Given the description of an element on the screen output the (x, y) to click on. 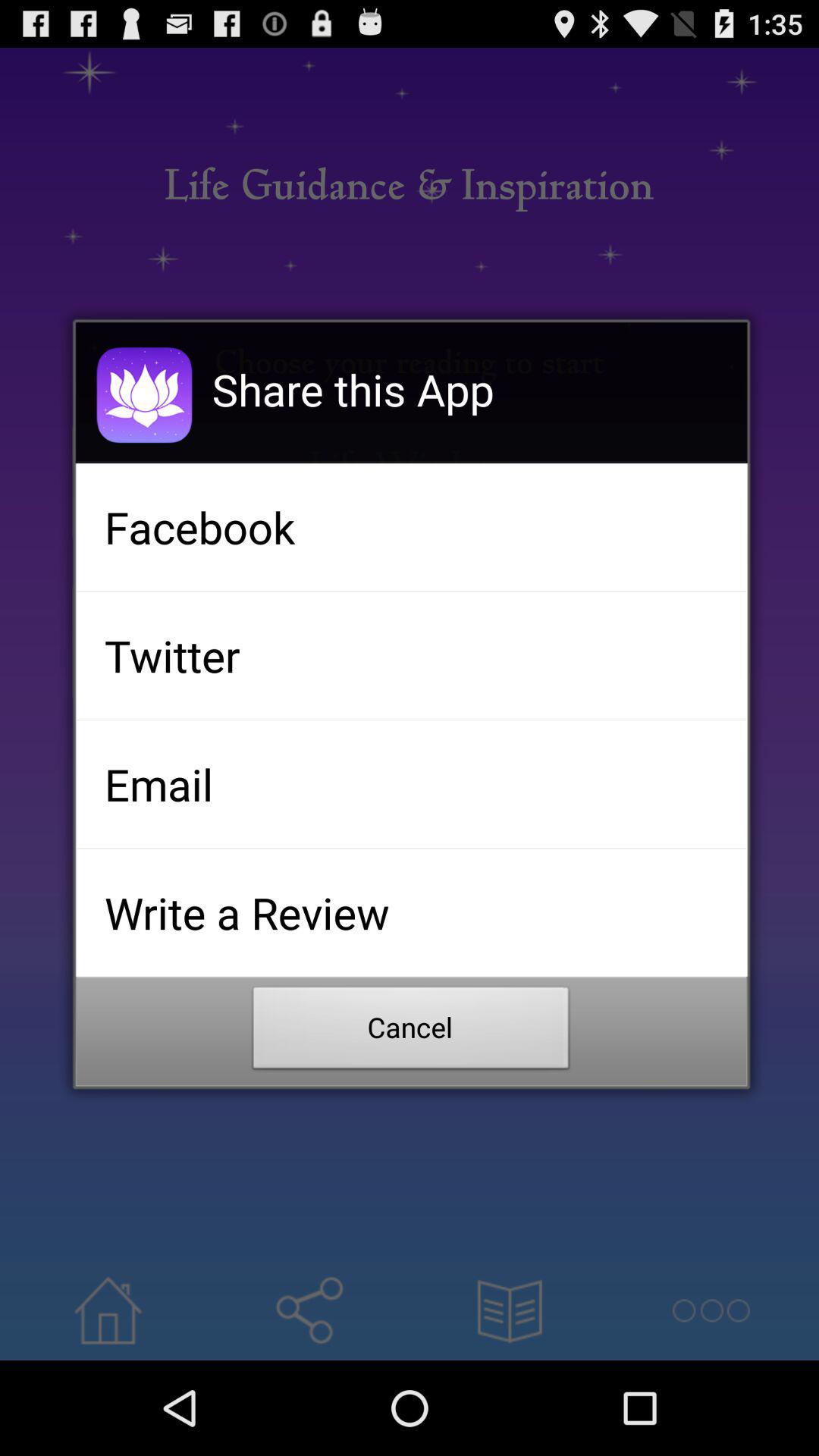
launch the app below the write a review item (410, 1032)
